Given the description of an element on the screen output the (x, y) to click on. 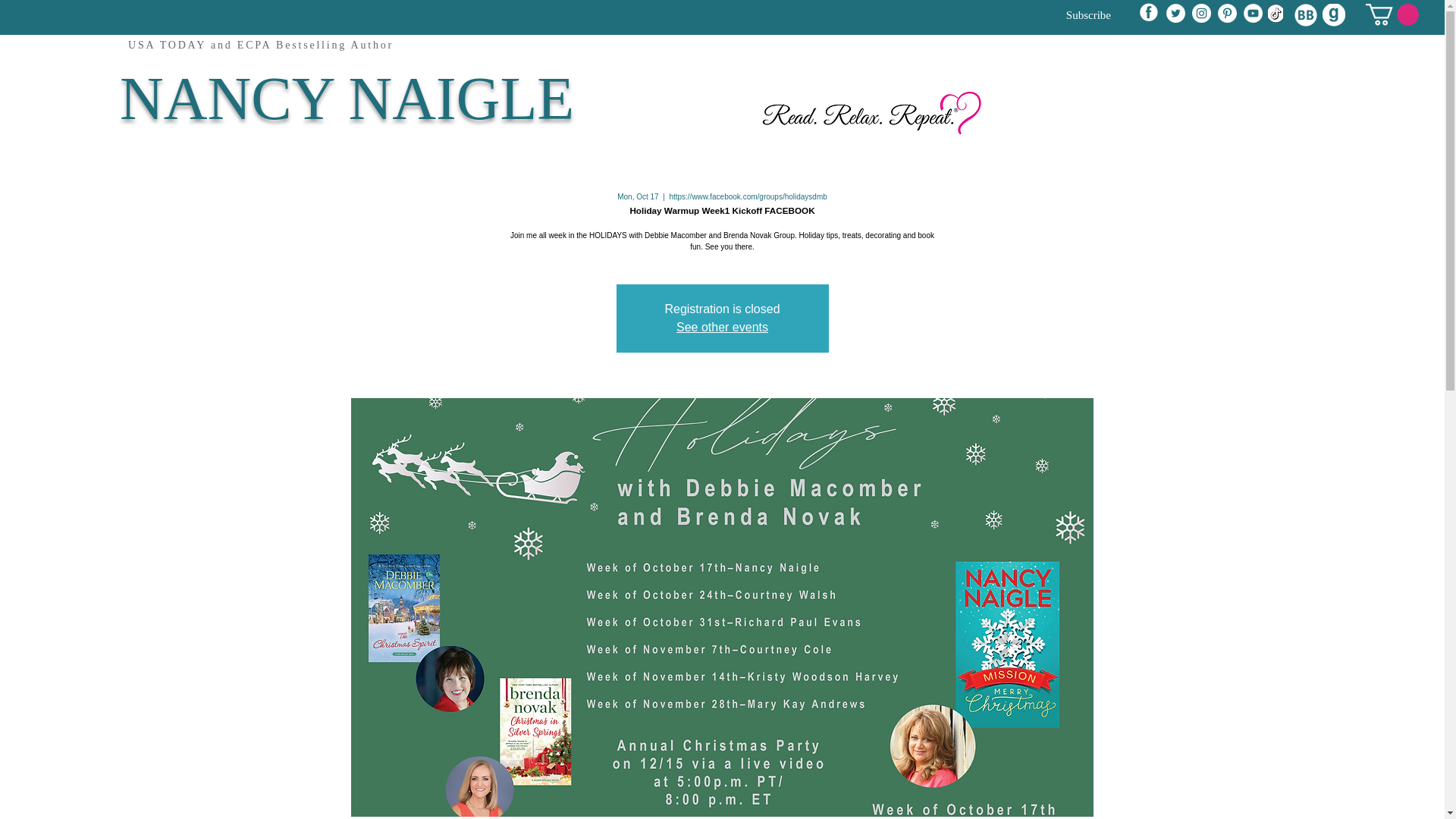
Subscribe (1063, 14)
See other events (722, 327)
NANCY NAIGLE (346, 98)
